Given the description of an element on the screen output the (x, y) to click on. 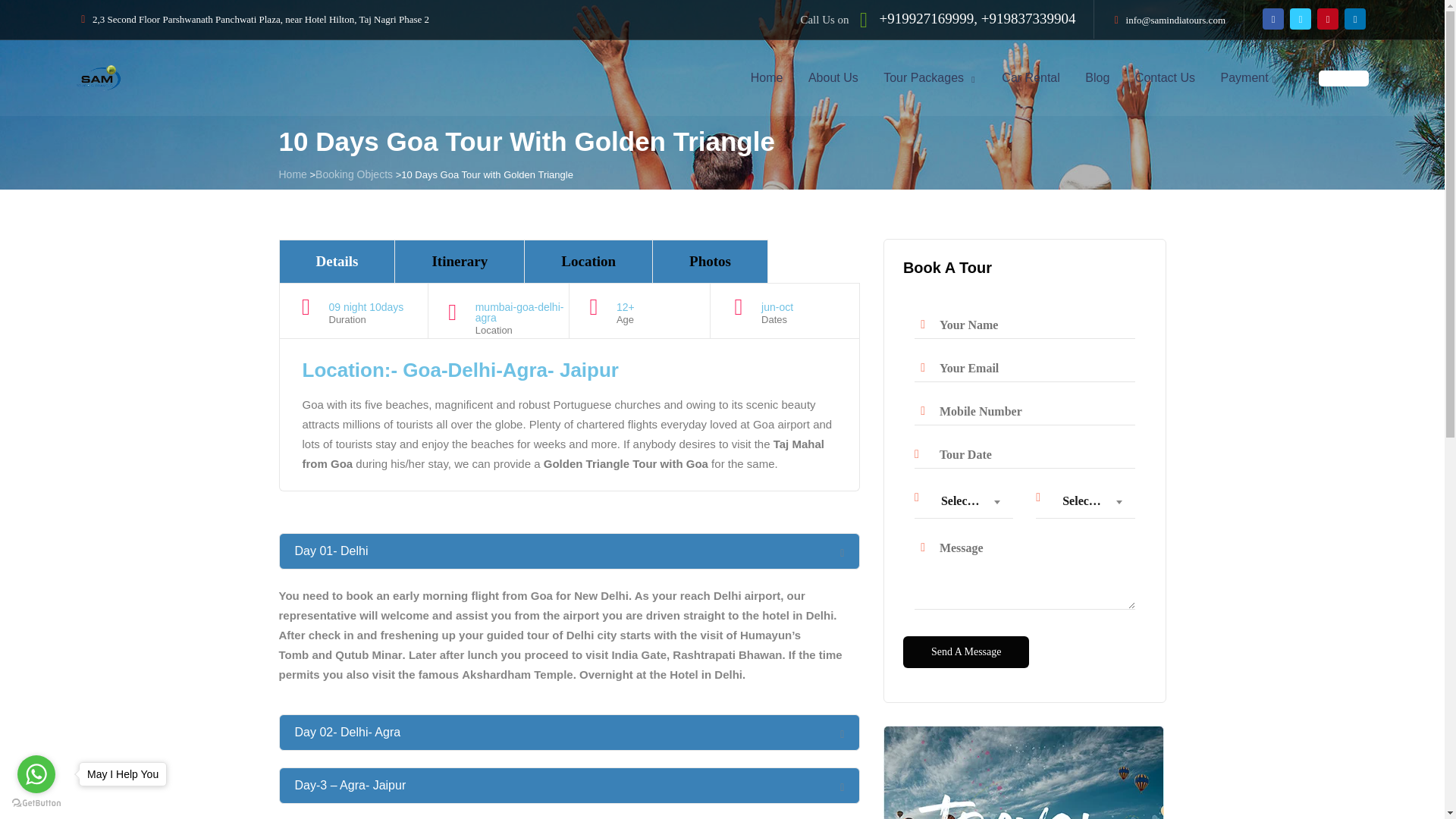
Send A Message (965, 652)
Contact Us (1166, 78)
Itinerary (458, 261)
Enquiry (1343, 78)
Payment (1243, 78)
Day 01- Delhi (331, 550)
Photos (709, 261)
Car Rental (1032, 78)
Select Child (1085, 500)
Location (587, 261)
Golden Triangle Tour with Goa (625, 463)
About Us (834, 78)
Taj Mahal from Goa (562, 453)
Booking Objects (354, 174)
Go to Booking Objects. (354, 174)
